Given the description of an element on the screen output the (x, y) to click on. 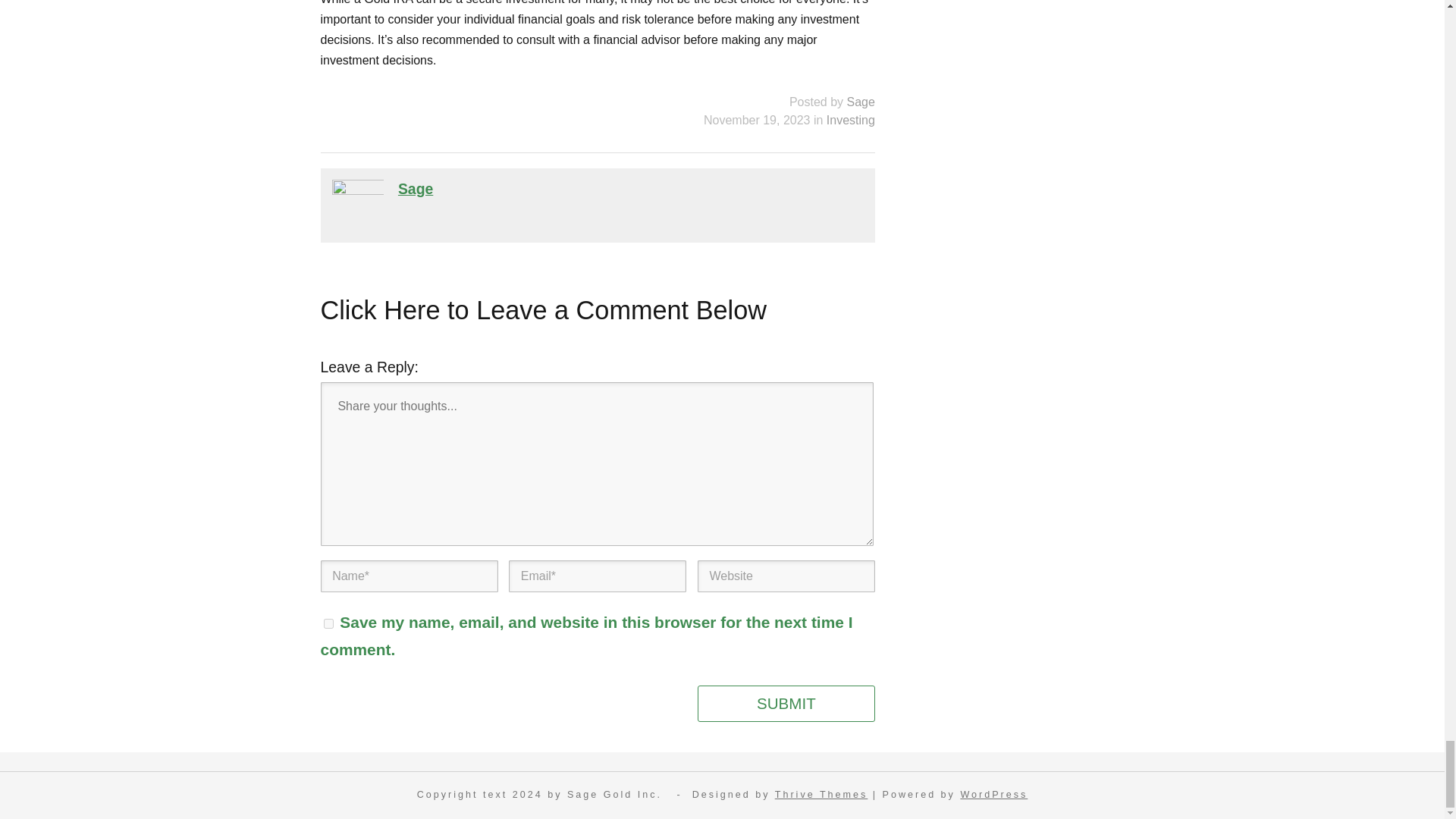
yes (328, 623)
Thrive Themes (820, 794)
Sage (414, 188)
Sage (861, 101)
SUBMIT (786, 703)
SUBMIT (786, 703)
WordPress (993, 794)
Investing (851, 119)
